Given the description of an element on the screen output the (x, y) to click on. 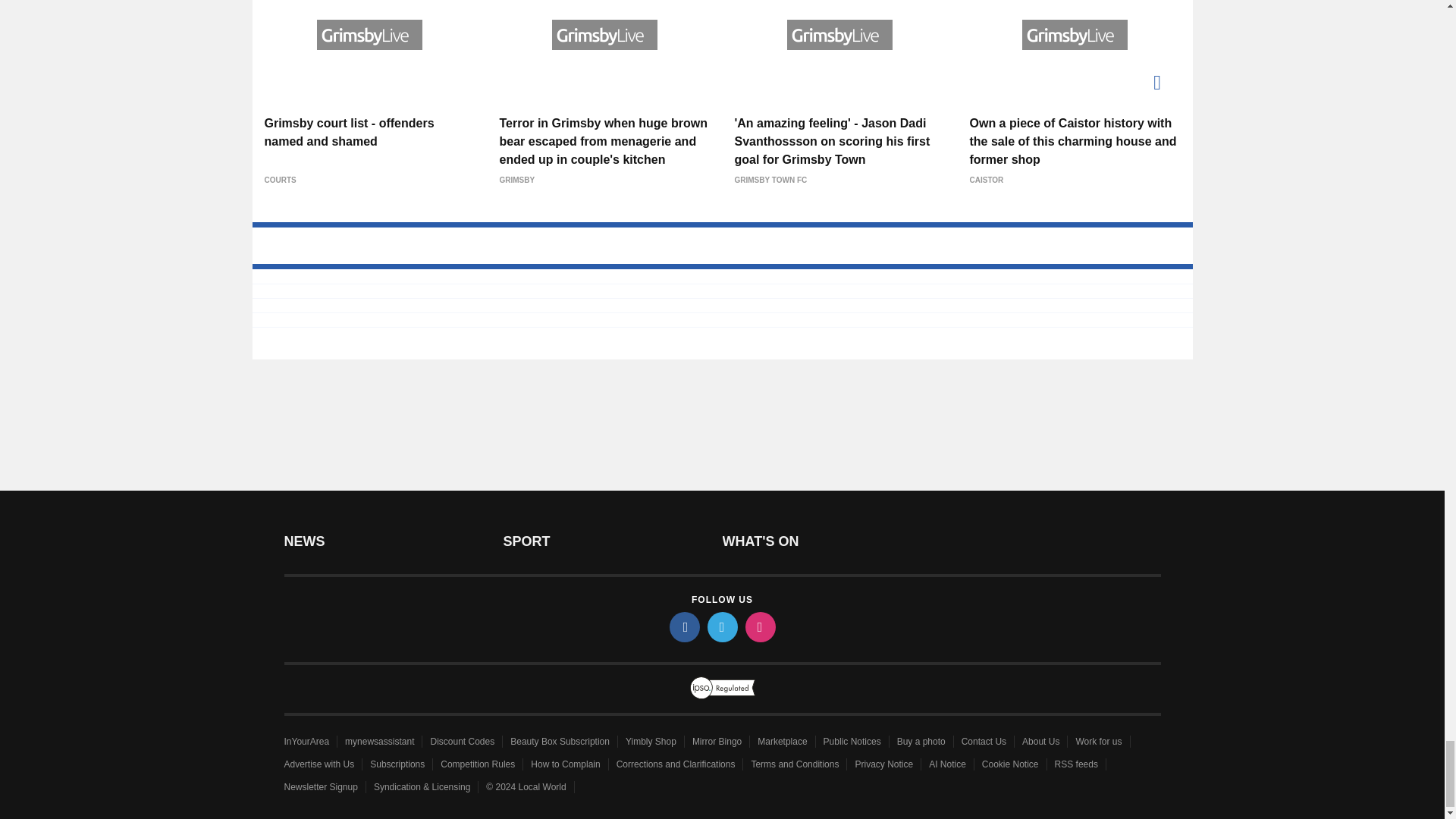
twitter (721, 626)
instagram (759, 626)
facebook (683, 626)
